Given the description of an element on the screen output the (x, y) to click on. 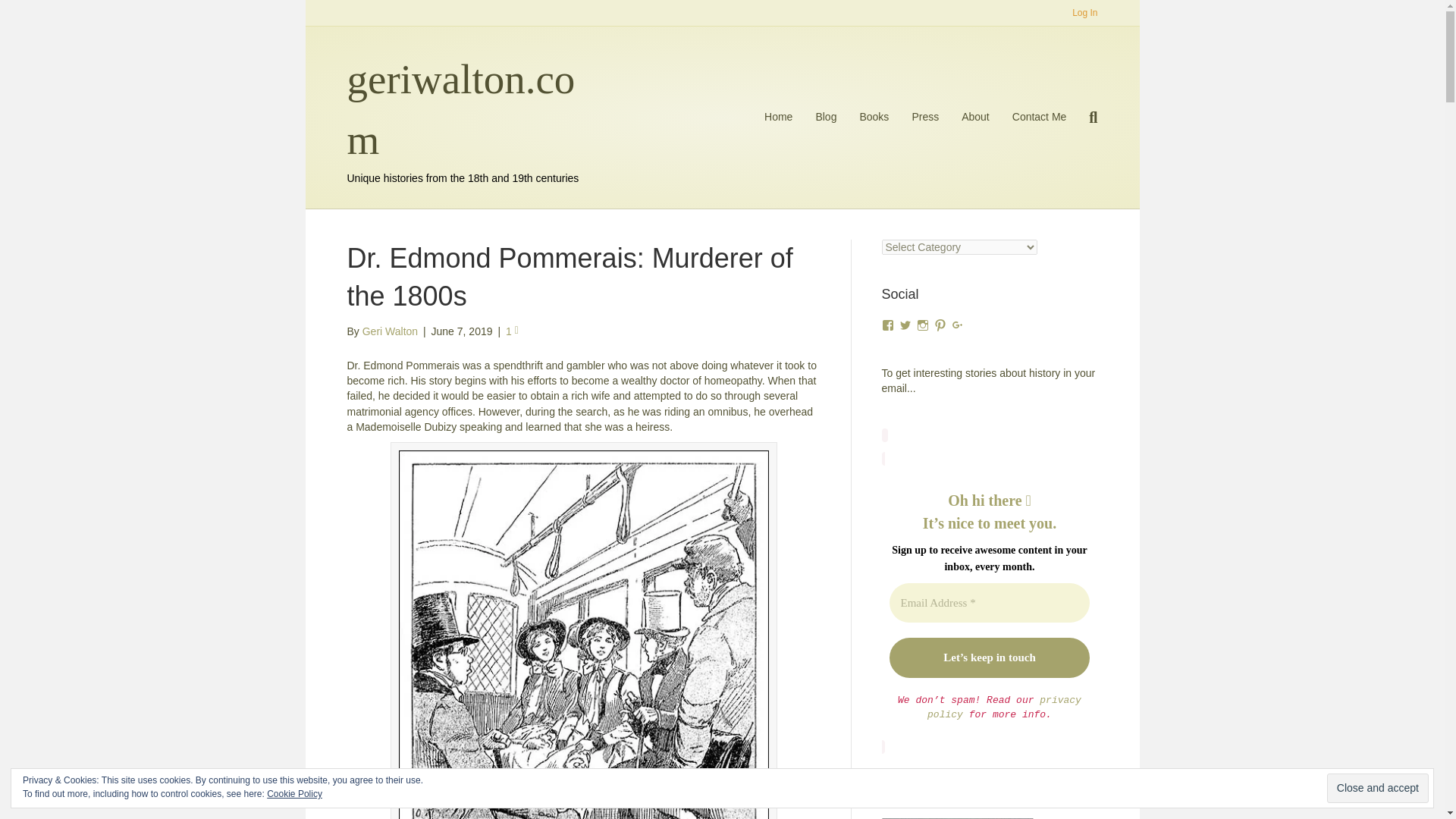
Books (873, 117)
About (975, 117)
Press (924, 117)
1 (511, 331)
Email Address (988, 603)
Blog (825, 117)
Contact Me (1039, 117)
Home (777, 117)
Close and accept (1377, 788)
geriwalton.com (466, 109)
